Given the description of an element on the screen output the (x, y) to click on. 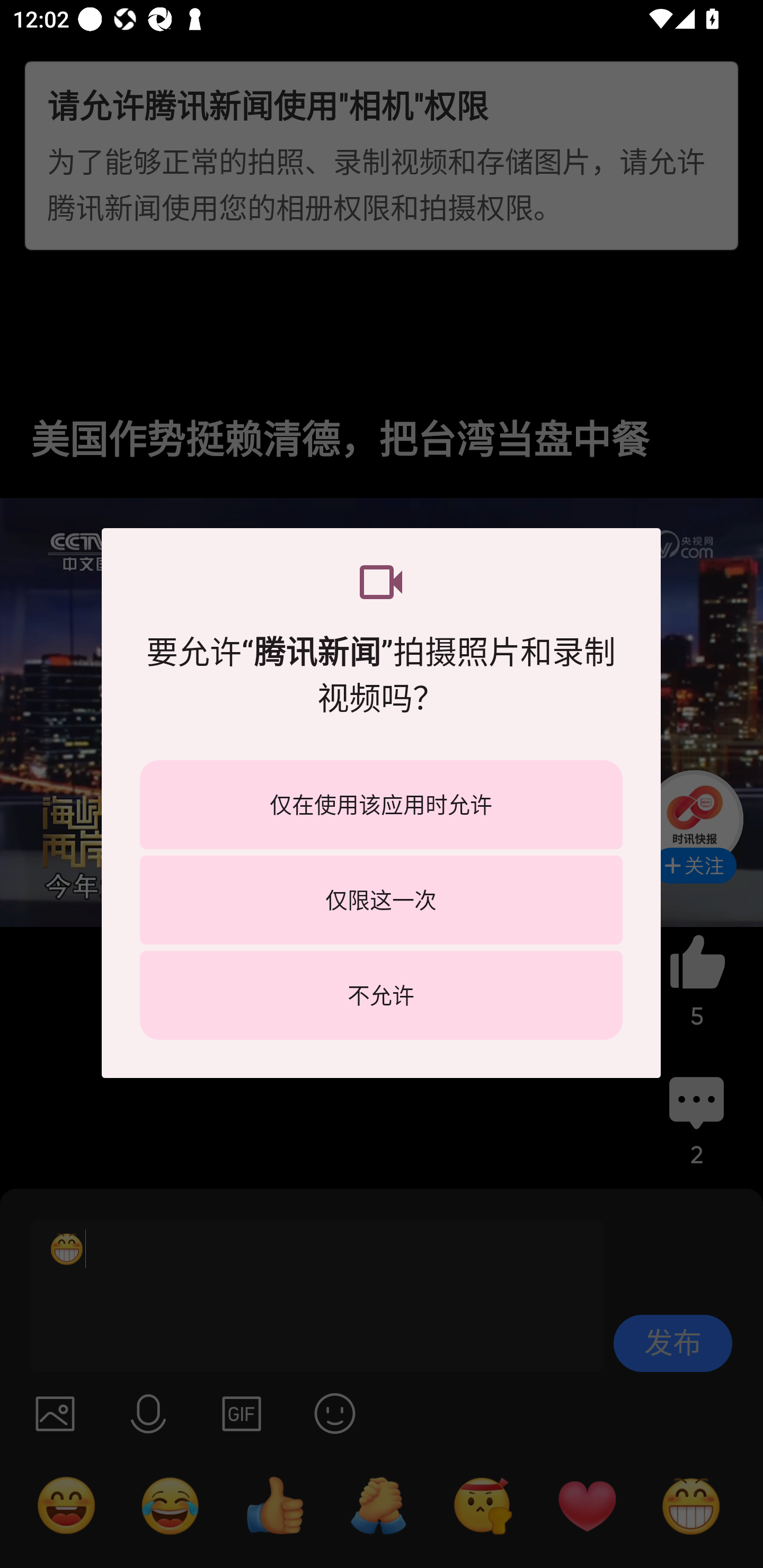
仅在使用该应用时允许 (380, 804)
仅限这一次 (380, 899)
不允许 (380, 994)
